Given the description of an element on the screen output the (x, y) to click on. 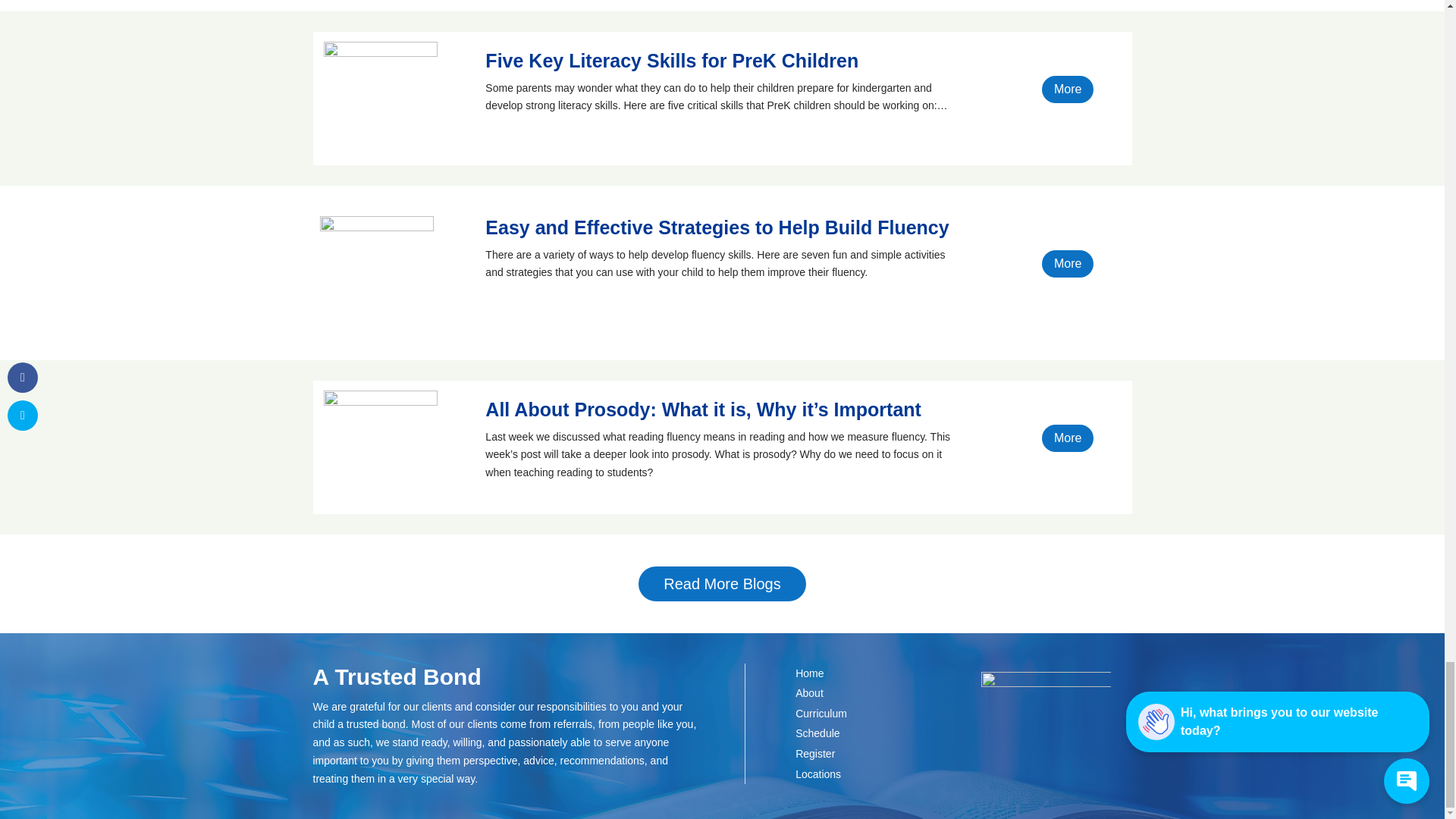
rr-logo-footer (1045, 720)
